Given the description of an element on the screen output the (x, y) to click on. 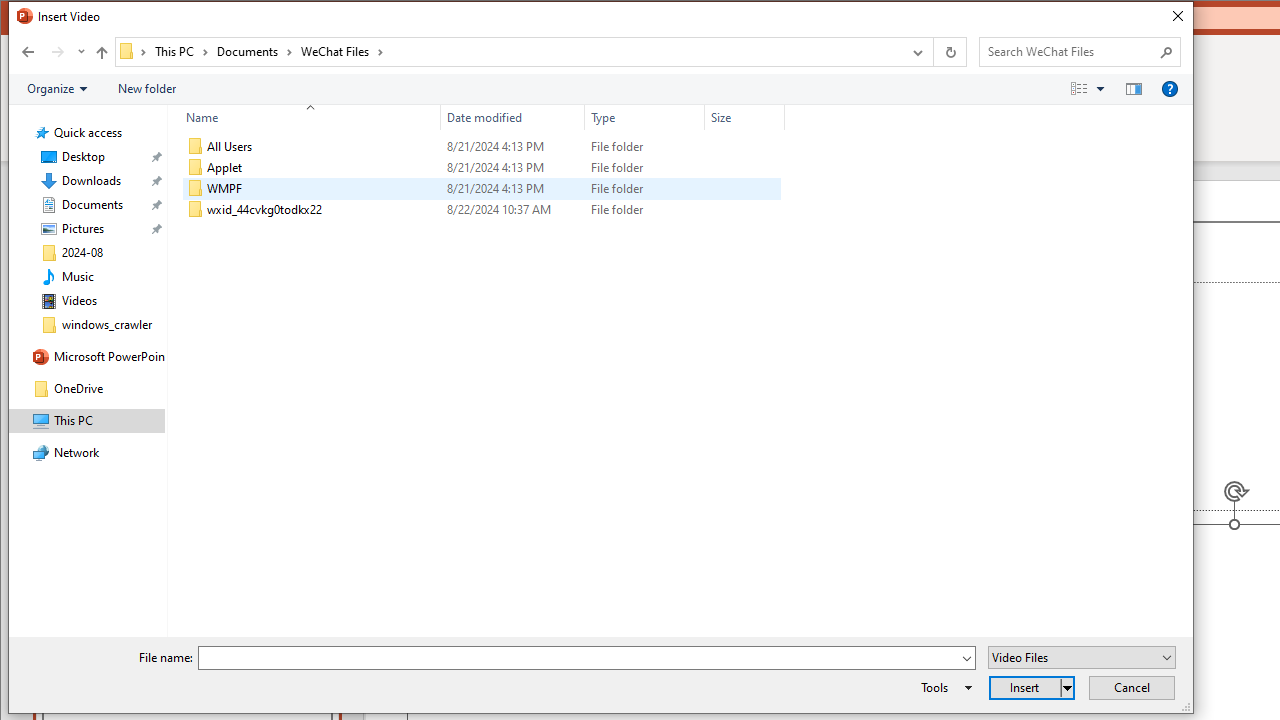
Address: C:\Users\wangyian\Documents\WeChat Files (507, 51)
File name: (579, 658)
&Help (1169, 89)
File name: (586, 657)
Back to Documents (Alt + Left Arrow) (27, 51)
Recent locations (80, 51)
Tools (943, 687)
Up band toolbar (101, 55)
Size (744, 209)
WMPF (481, 188)
Filter dropdown (776, 117)
Navigation buttons (50, 51)
Name (304, 117)
Refresh "WeChat Files" (F5) (949, 51)
Name (322, 209)
